Given the description of an element on the screen output the (x, y) to click on. 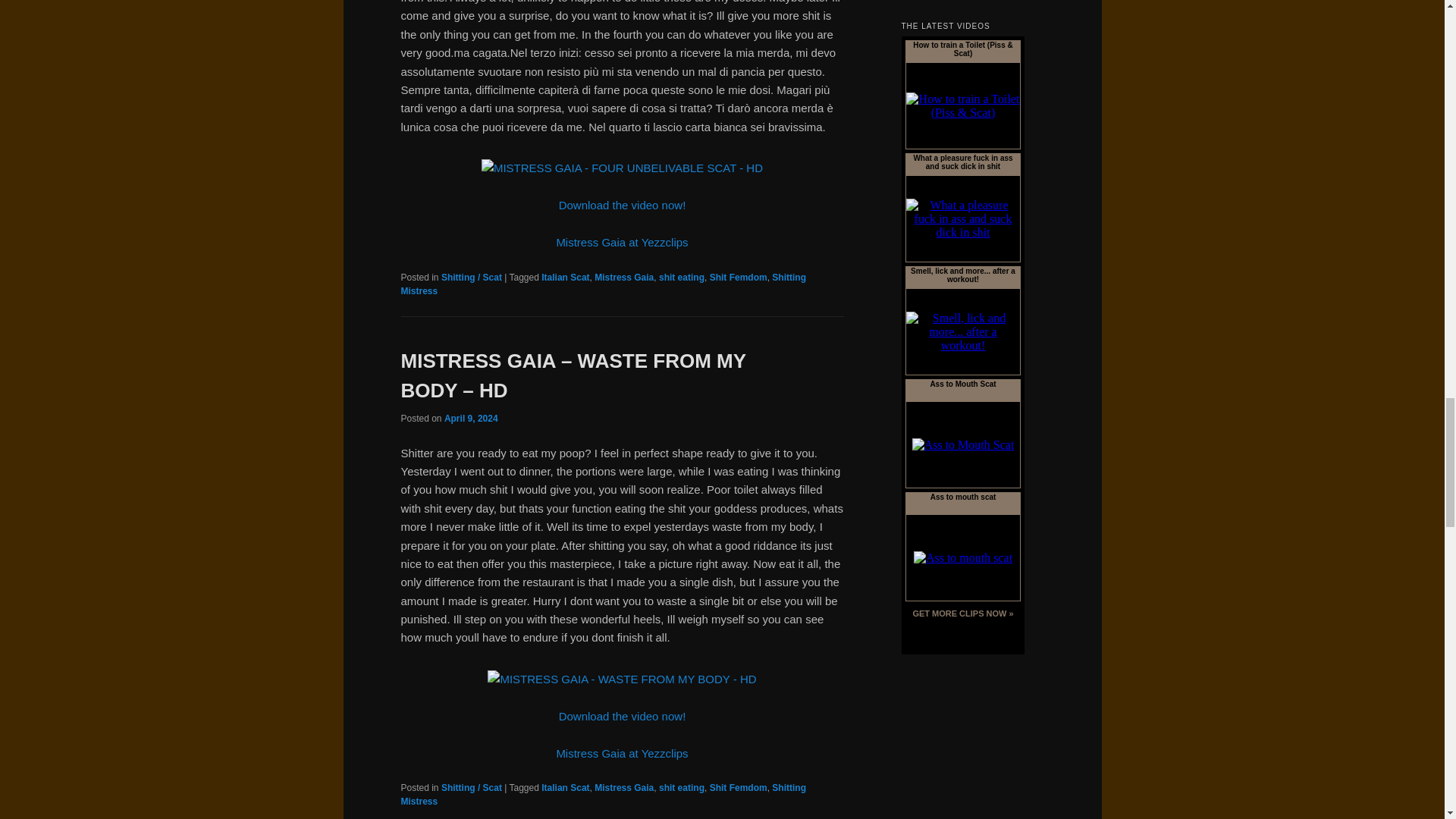
6:22 am (470, 418)
